Given the description of an element on the screen output the (x, y) to click on. 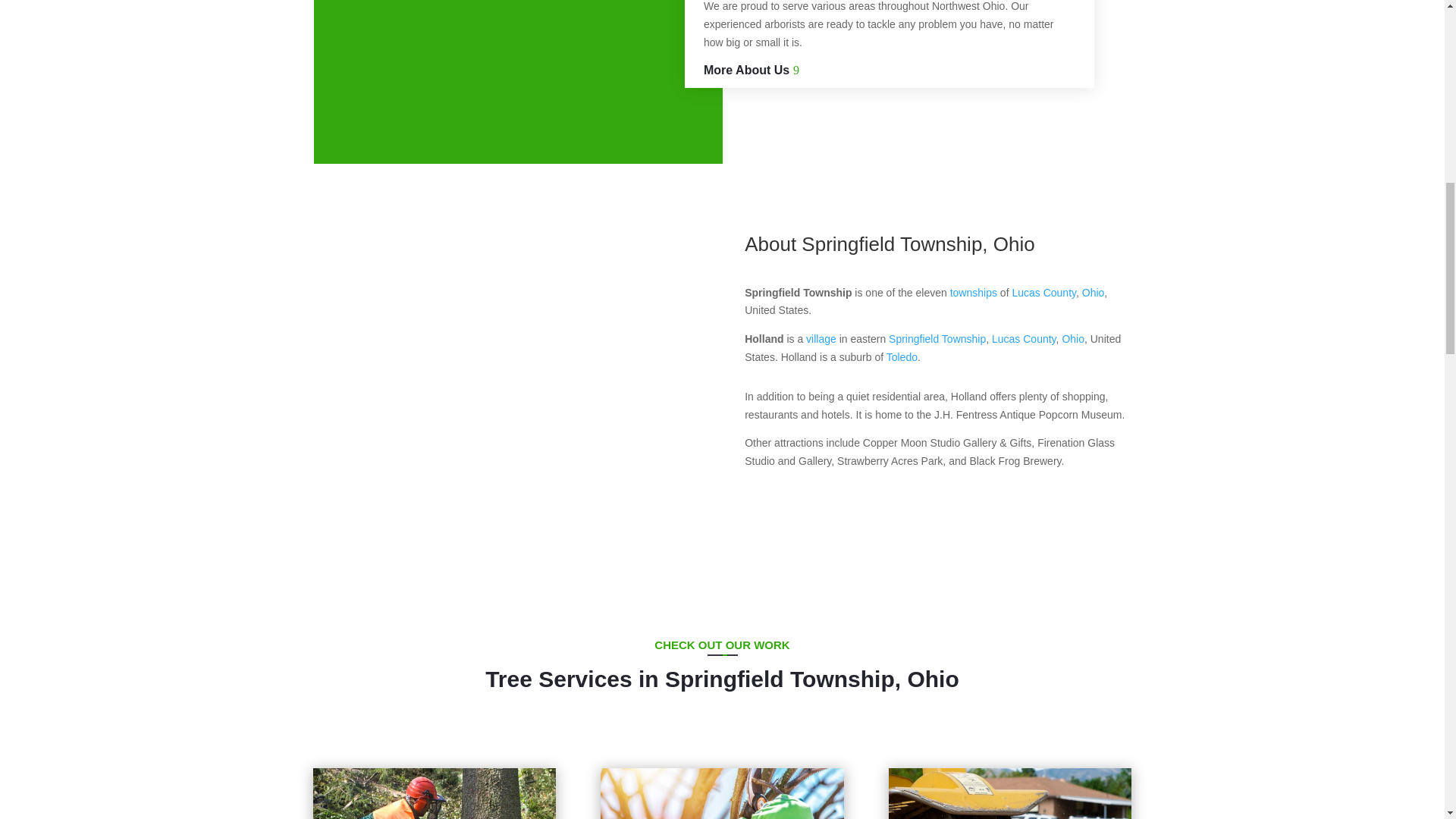
Toledo, Ohio (901, 357)
Springfield Township, Lucas County, Ohio (936, 338)
Civil township (973, 292)
Lucas County, Ohio (1043, 292)
Ohio (1093, 292)
Ohio (1072, 338)
Lucas County, Ohio (1024, 338)
